Given the description of an element on the screen output the (x, y) to click on. 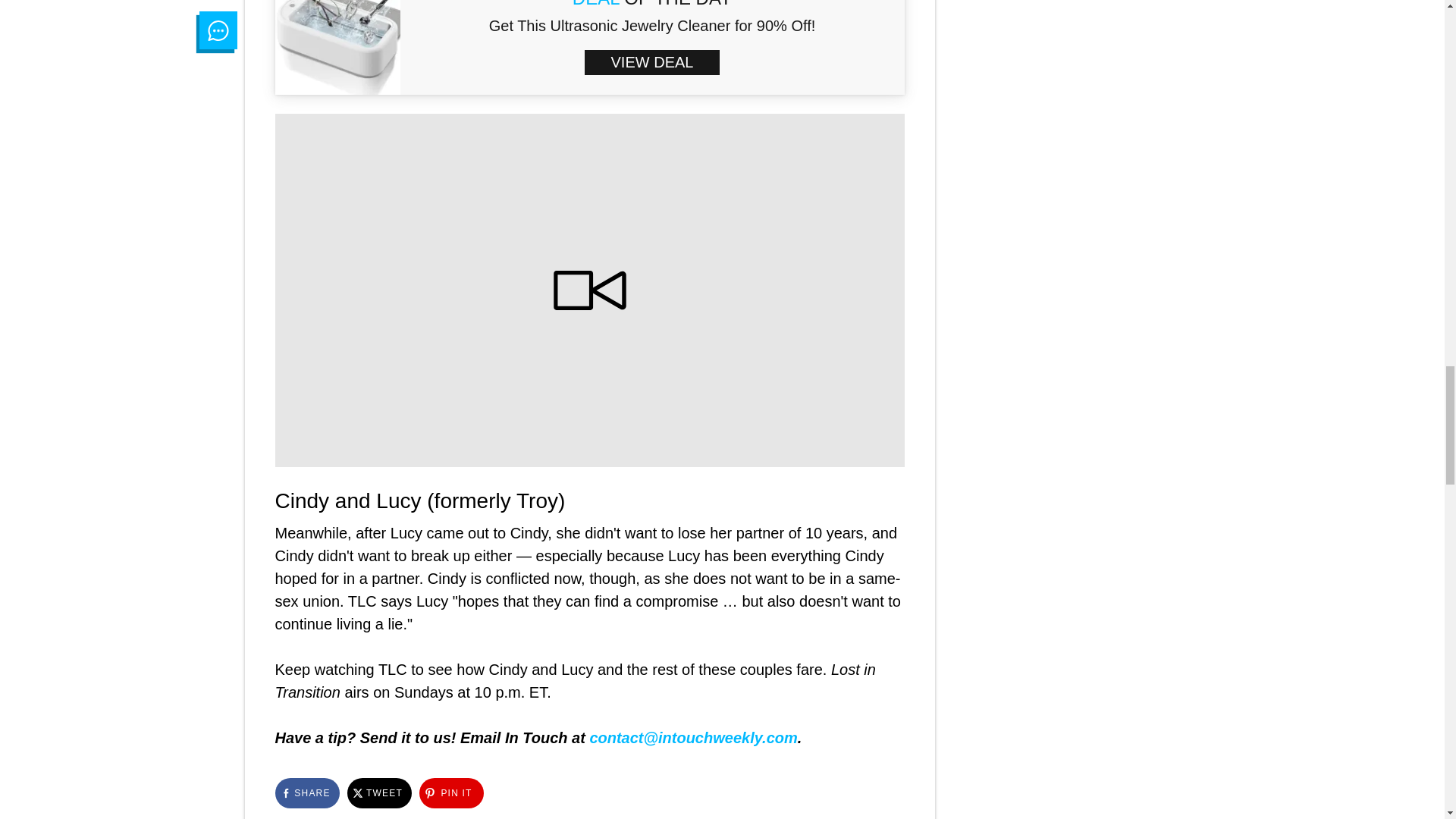
Click to share on Pinterest (451, 793)
Click to share on Facebook (307, 793)
Click to share on Twitter (379, 793)
